Given the description of an element on the screen output the (x, y) to click on. 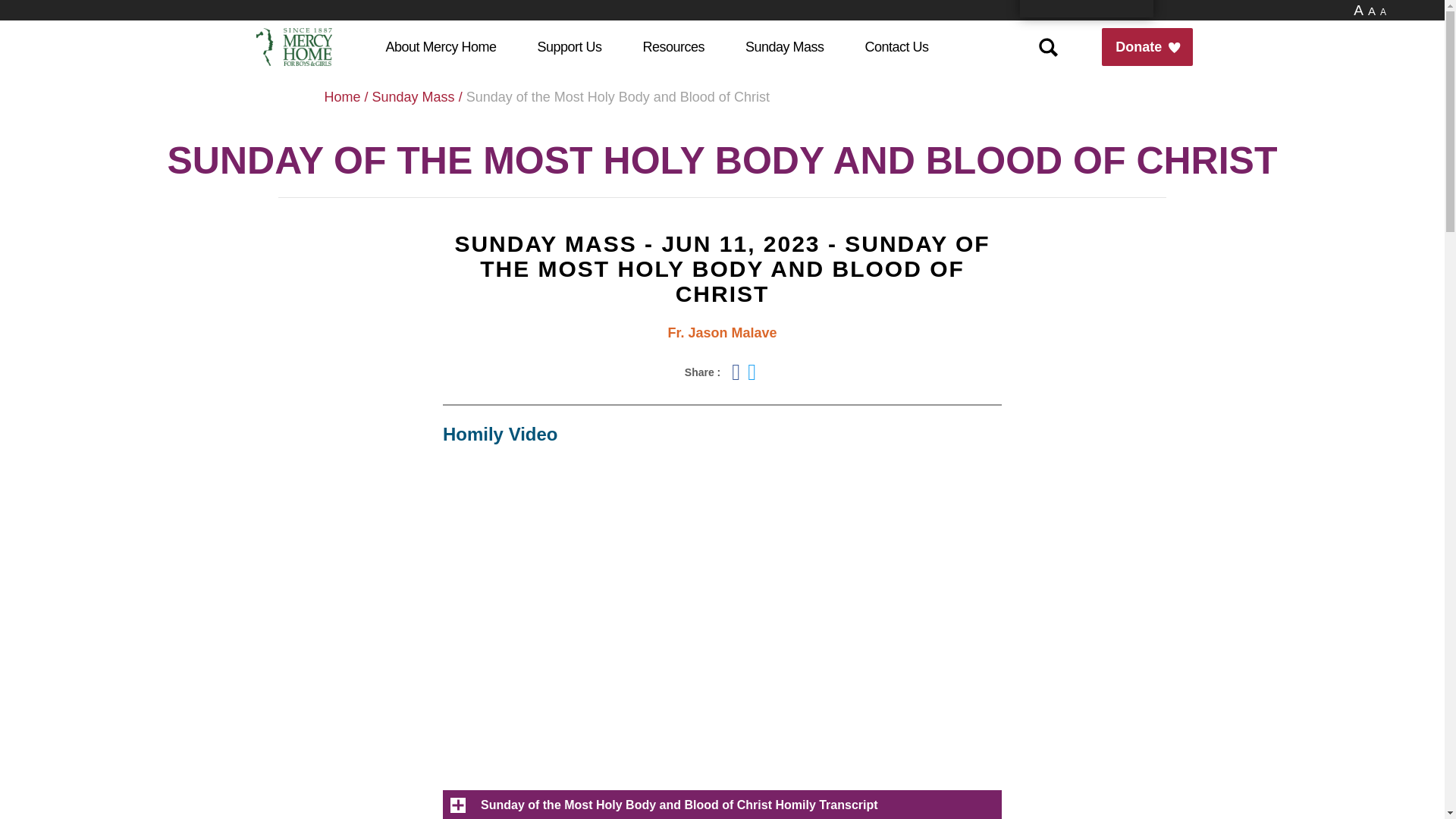
About Mercy Home (440, 46)
AAA (1371, 10)
Support Us (568, 46)
